Given the description of an element on the screen output the (x, y) to click on. 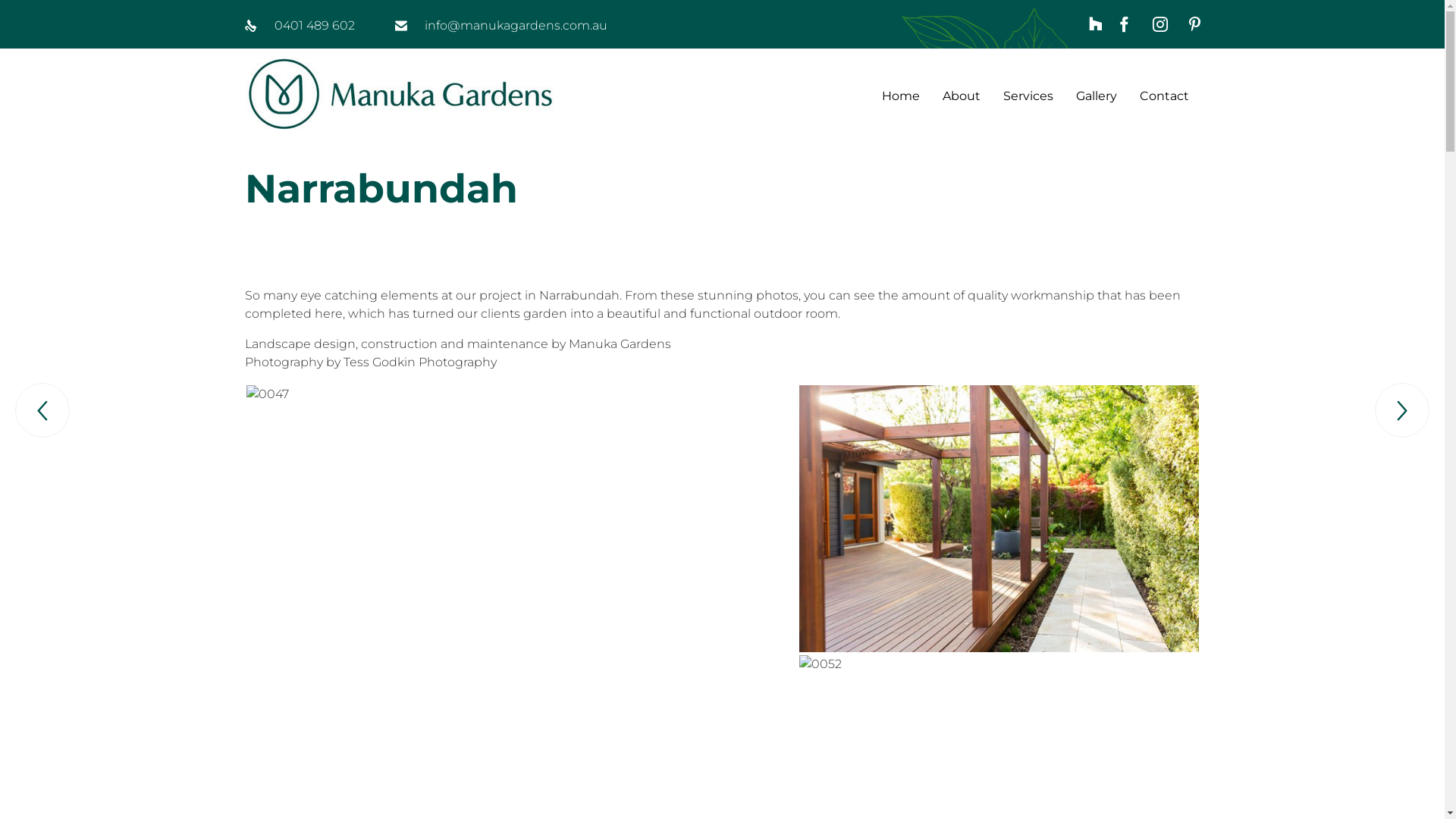
Manuka Gardens Element type: hover (399, 93)
Gallery Element type: text (1095, 93)
0040 Element type: hover (998, 518)
About Element type: text (960, 93)
Services Element type: text (1027, 93)
0401 489 602 Element type: text (314, 26)
Contact Element type: text (1163, 93)
info@manukagardens.com.au Element type: text (515, 26)
Skip to content Element type: text (1199, 76)
Home Element type: text (900, 93)
